Given the description of an element on the screen output the (x, y) to click on. 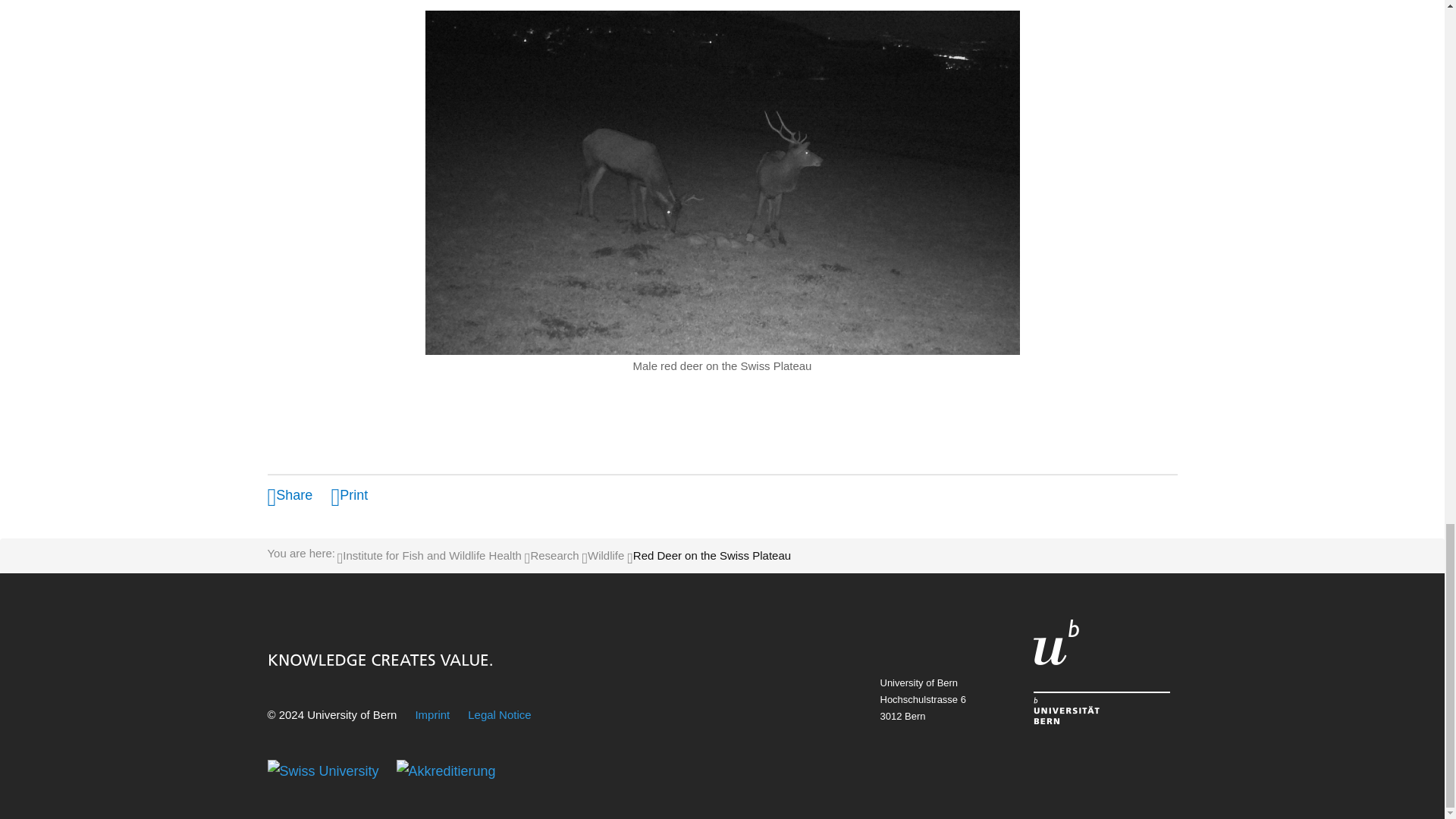
Share (289, 494)
